Given the description of an element on the screen output the (x, y) to click on. 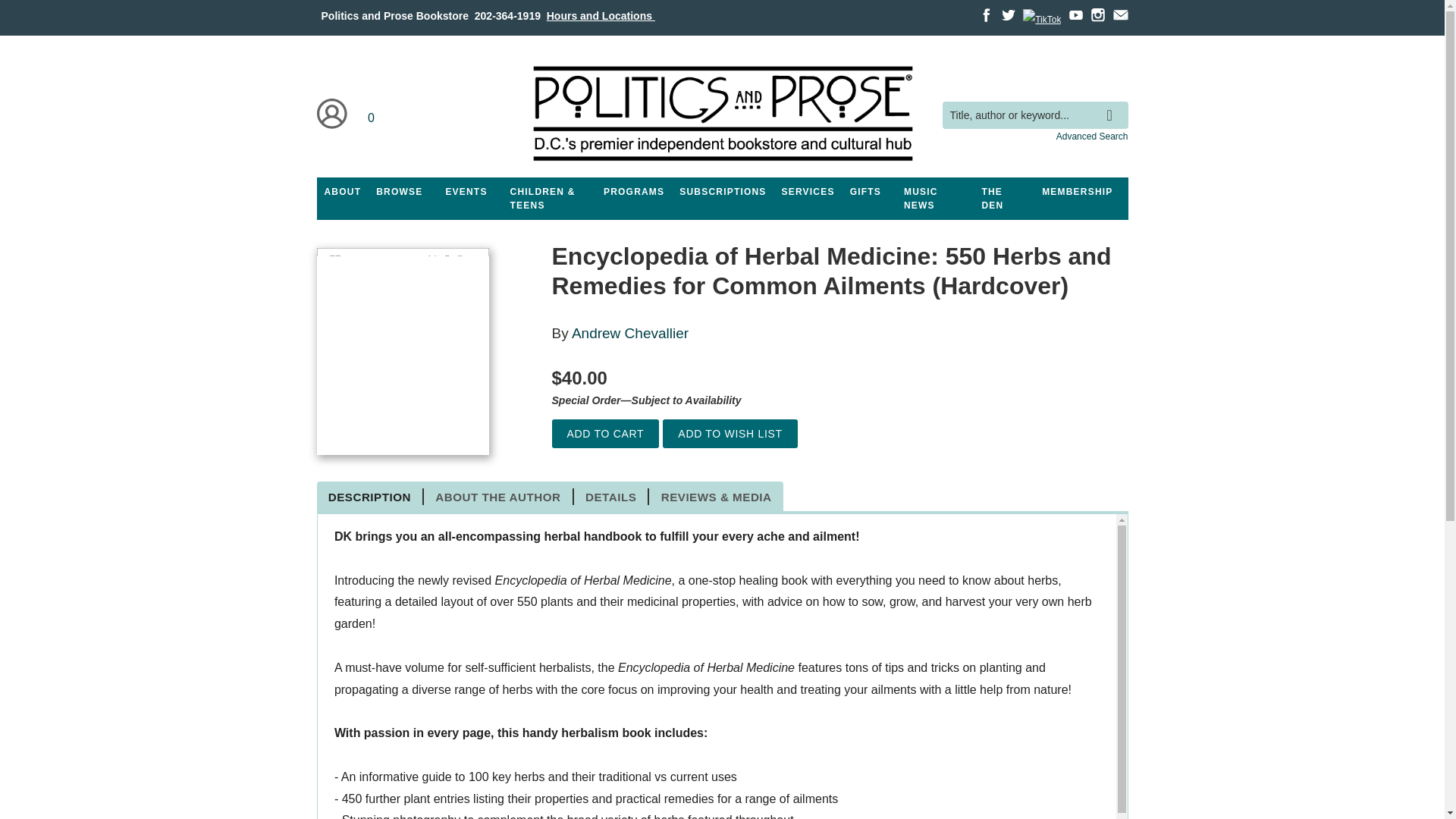
Advanced Search (1092, 136)
Add to Wish List (729, 433)
Hours and Locations  (601, 15)
BROWSE (398, 191)
Home (721, 114)
See our store ours and locations (601, 15)
EVENTS (465, 191)
SUBSCRIPTIONS (722, 191)
See information about our programs (633, 191)
Children and Teens Department (548, 198)
Add to Cart (605, 433)
search (1112, 103)
PROGRAMS (633, 191)
Title, author or keyword... (1034, 115)
